Given the description of an element on the screen output the (x, y) to click on. 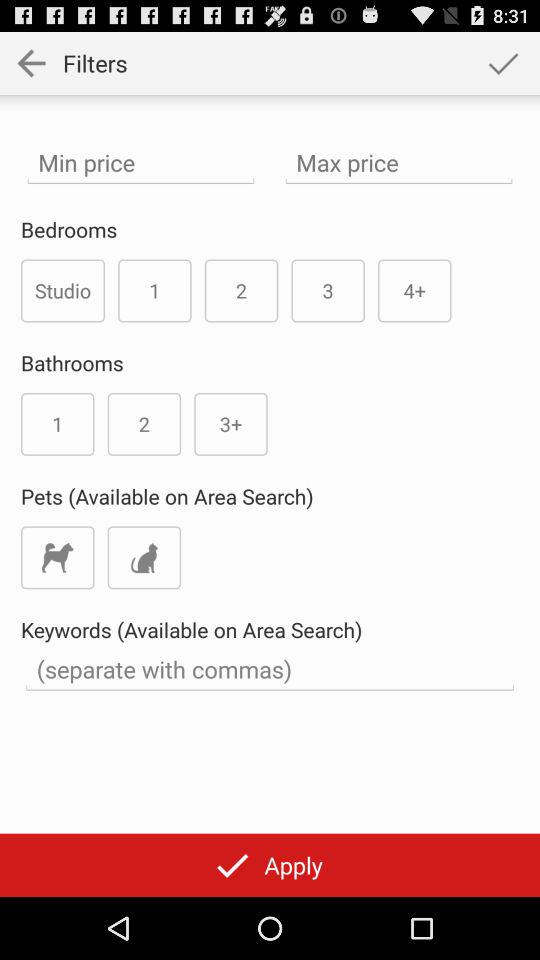
open the item to the right of the 3 (414, 290)
